Given the description of an element on the screen output the (x, y) to click on. 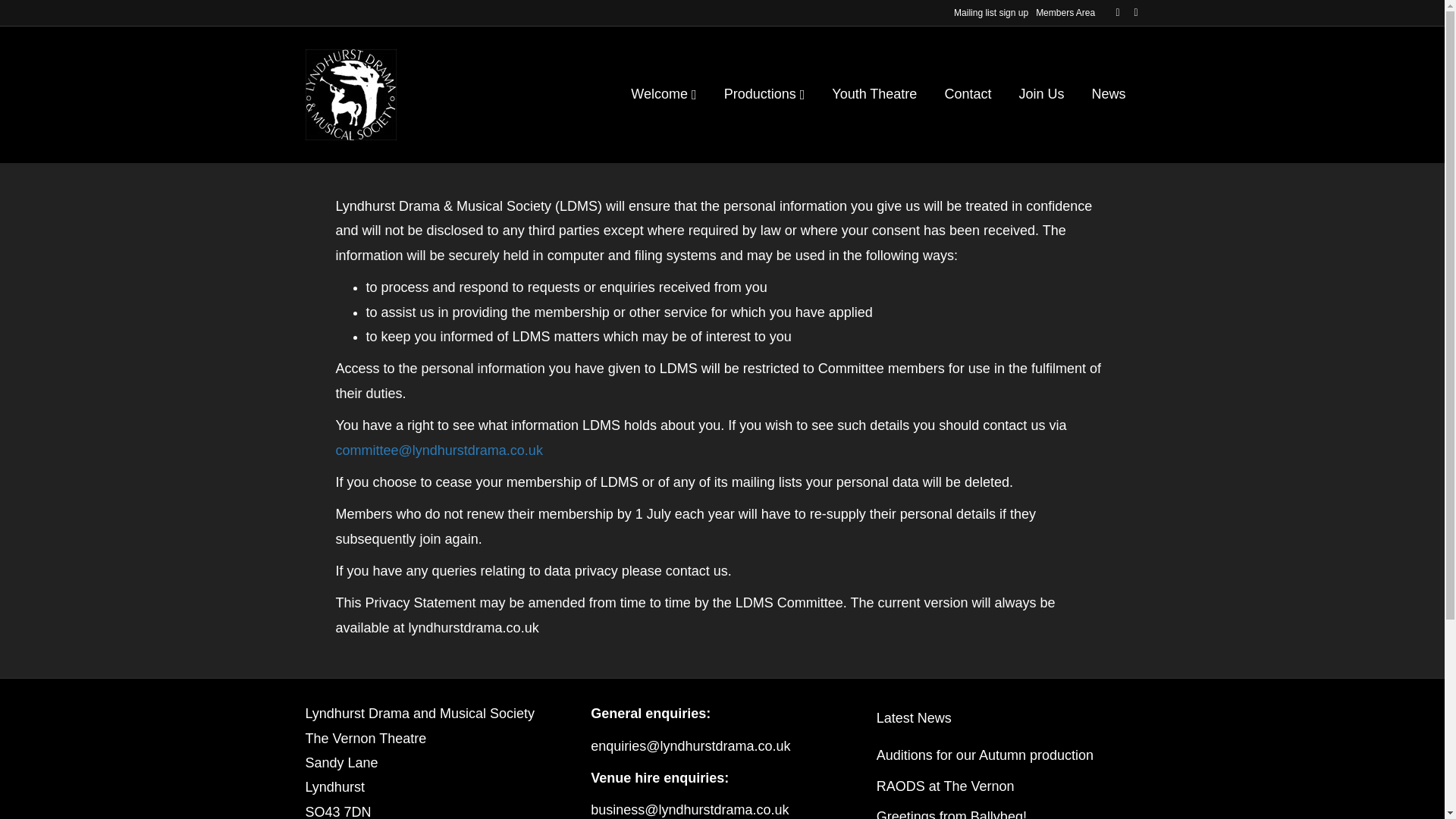
Twitter (1128, 11)
Welcome (663, 94)
Productions (764, 94)
News (1107, 94)
Auditions for our Autumn production (984, 754)
Members Area (1064, 12)
Contact (967, 94)
Youth Theatre (874, 94)
RAODS at The Vernon (945, 785)
Facebook (1109, 11)
Mailing list sign up (990, 12)
Join Us (1040, 94)
Greetings from Ballybeg! (951, 814)
